Given the description of an element on the screen output the (x, y) to click on. 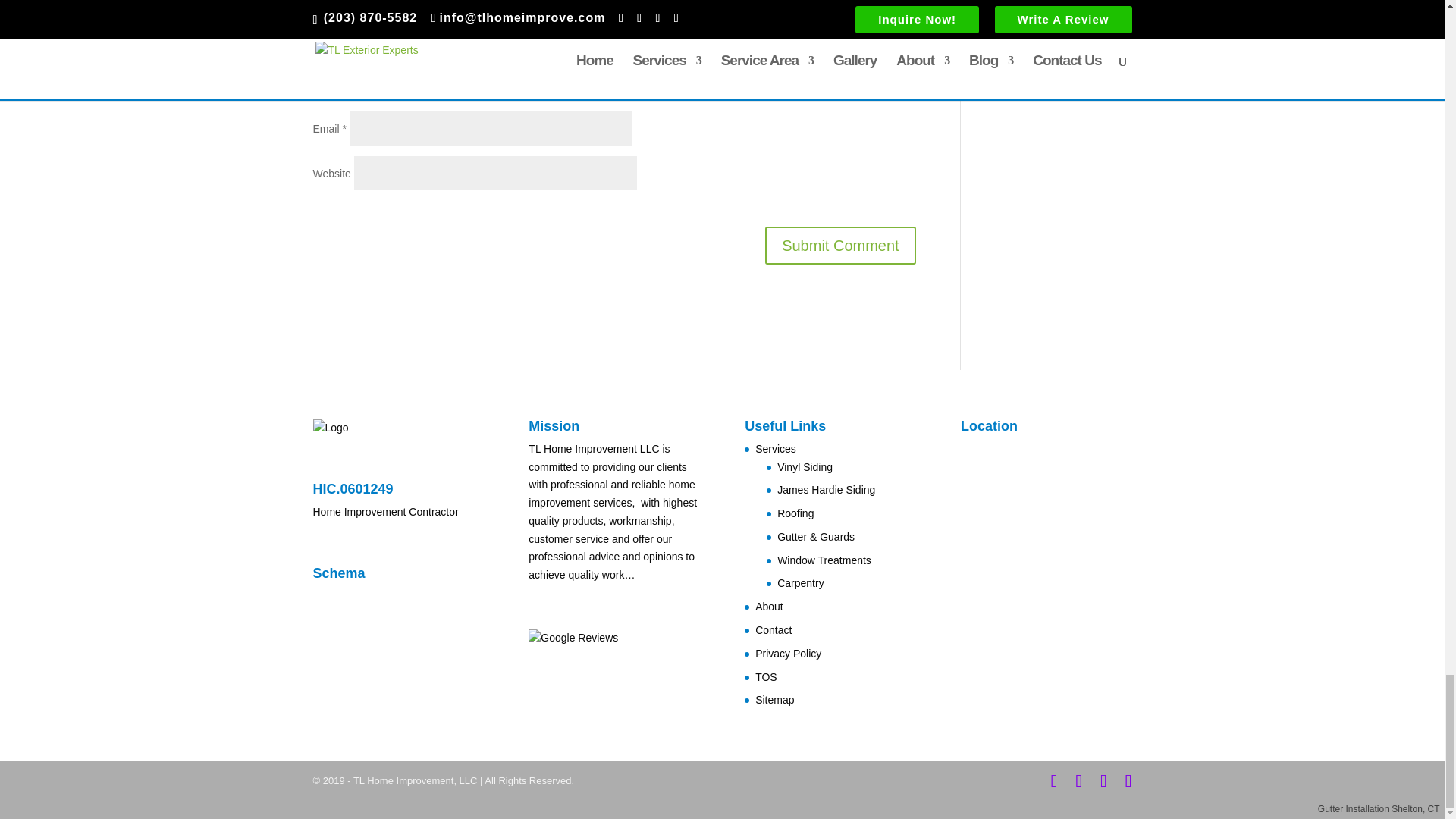
Submit Comment (840, 245)
